Given the description of an element on the screen output the (x, y) to click on. 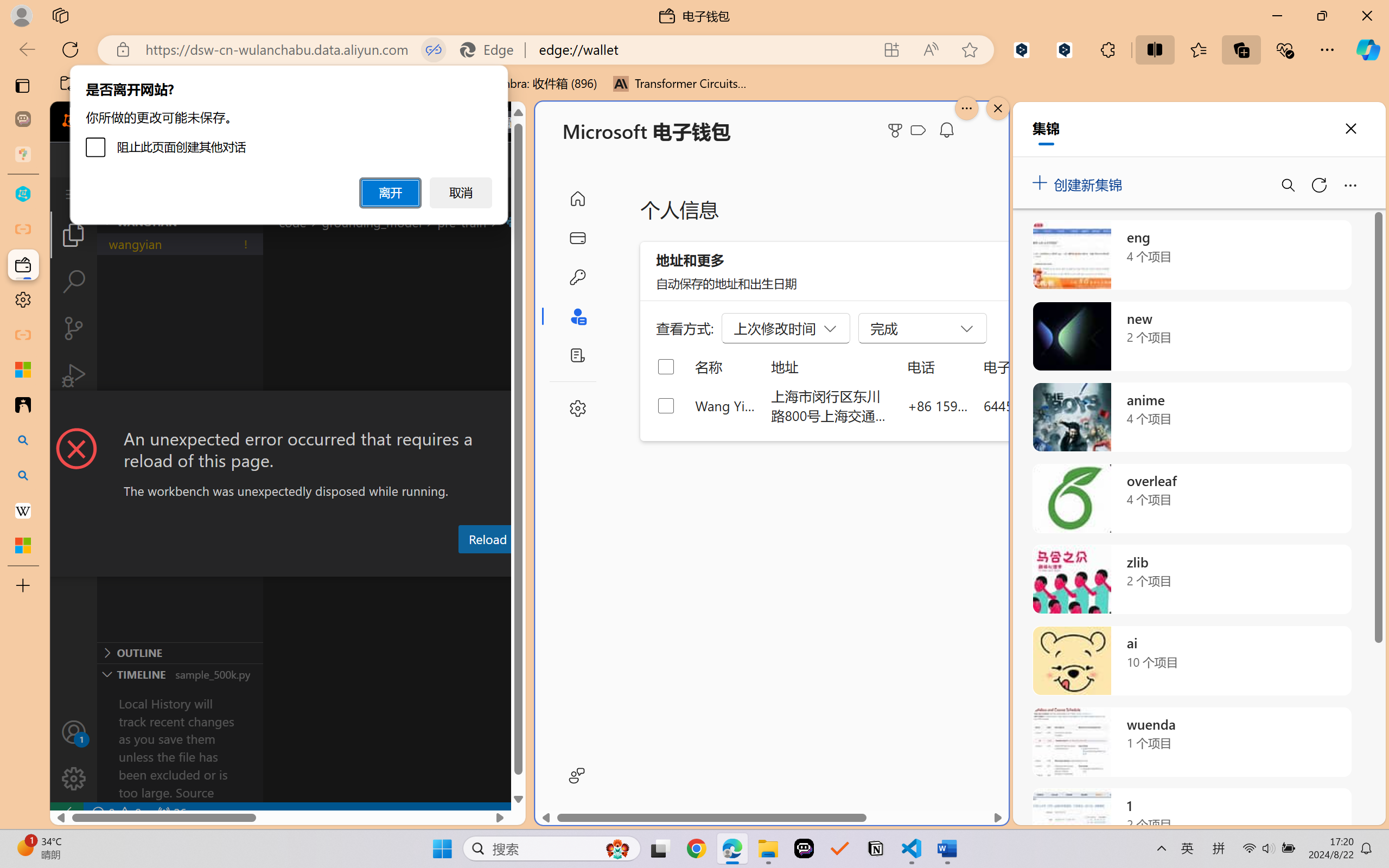
Class: ___1lmltc5 f1agt3bx f12qytpq (917, 130)
Reload (486, 538)
Output (Ctrl+Shift+U) (377, 565)
644553698@qq.com (1043, 405)
Copilot (Ctrl+Shift+.) (1368, 49)
